Given the description of an element on the screen output the (x, y) to click on. 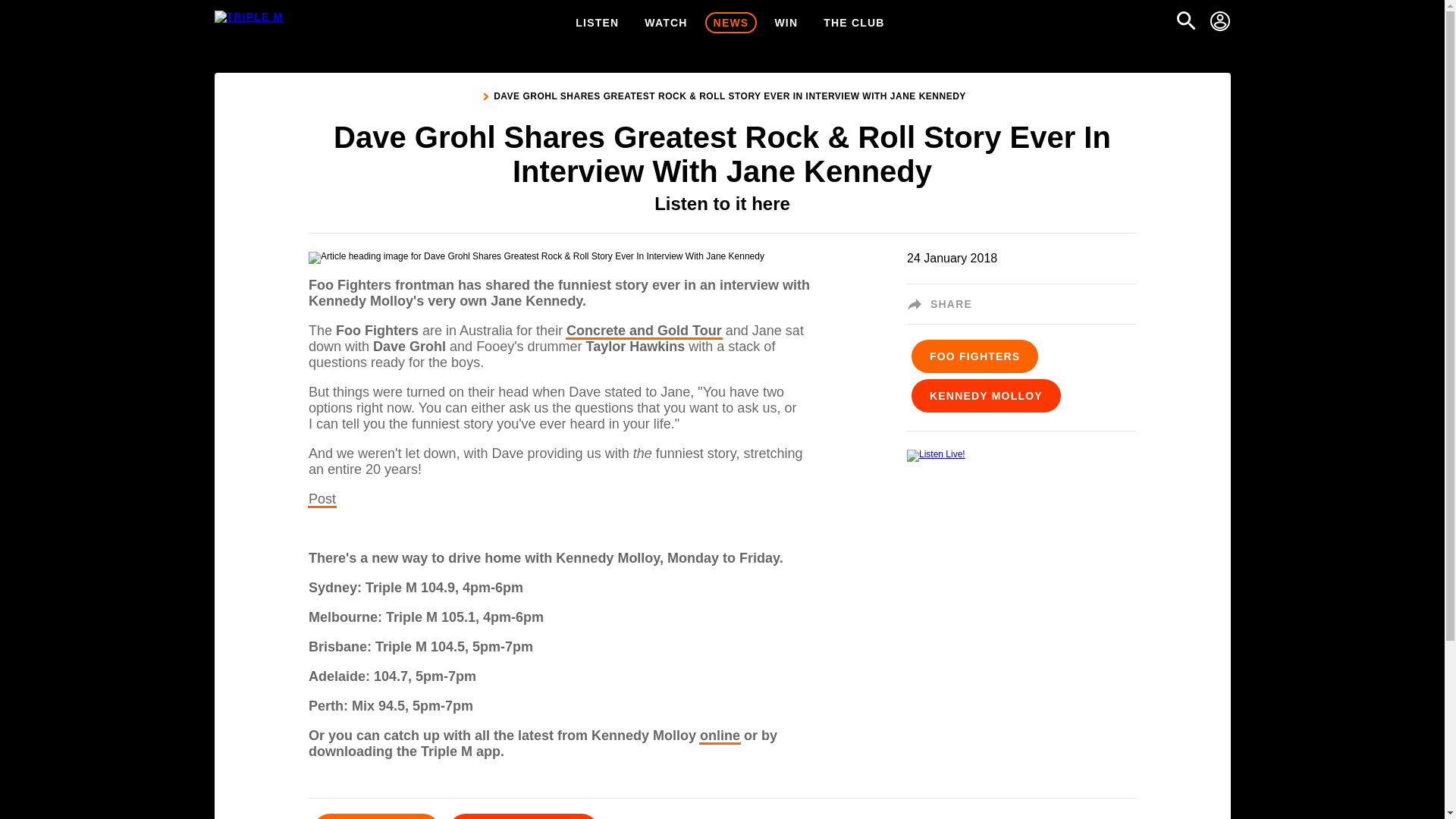
THE CLUB (853, 22)
Post (322, 498)
WIN (785, 22)
SHARE (944, 303)
WATCH (665, 22)
Concrete and Gold Tour (644, 330)
online (719, 735)
KENNEDY MOLLOY (986, 396)
LISTEN (597, 22)
Triple M (248, 16)
FOO FIGHTERS (974, 357)
NEWS (730, 22)
